Given the description of an element on the screen output the (x, y) to click on. 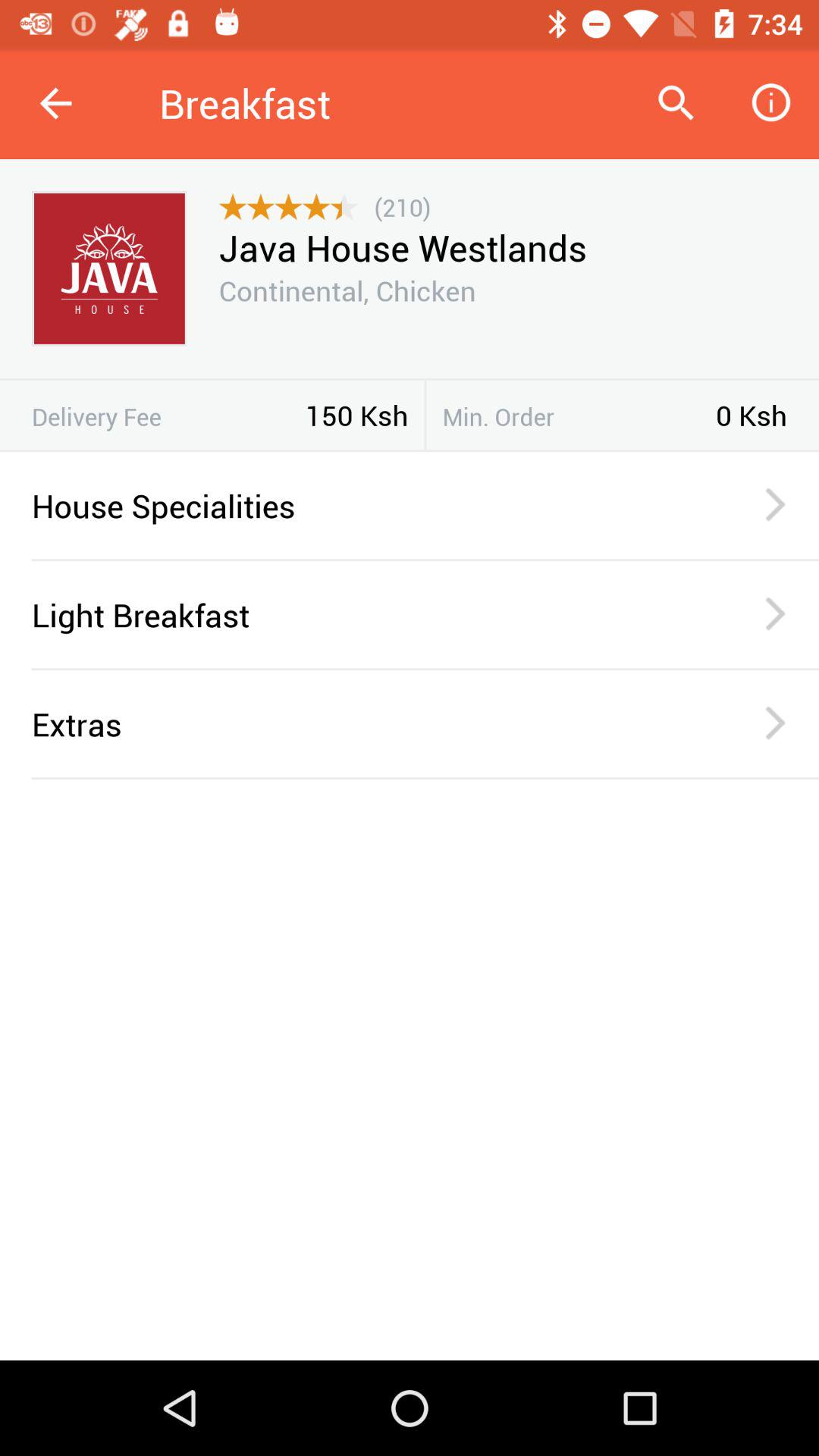
click the delivery fee (168, 416)
